Given the description of an element on the screen output the (x, y) to click on. 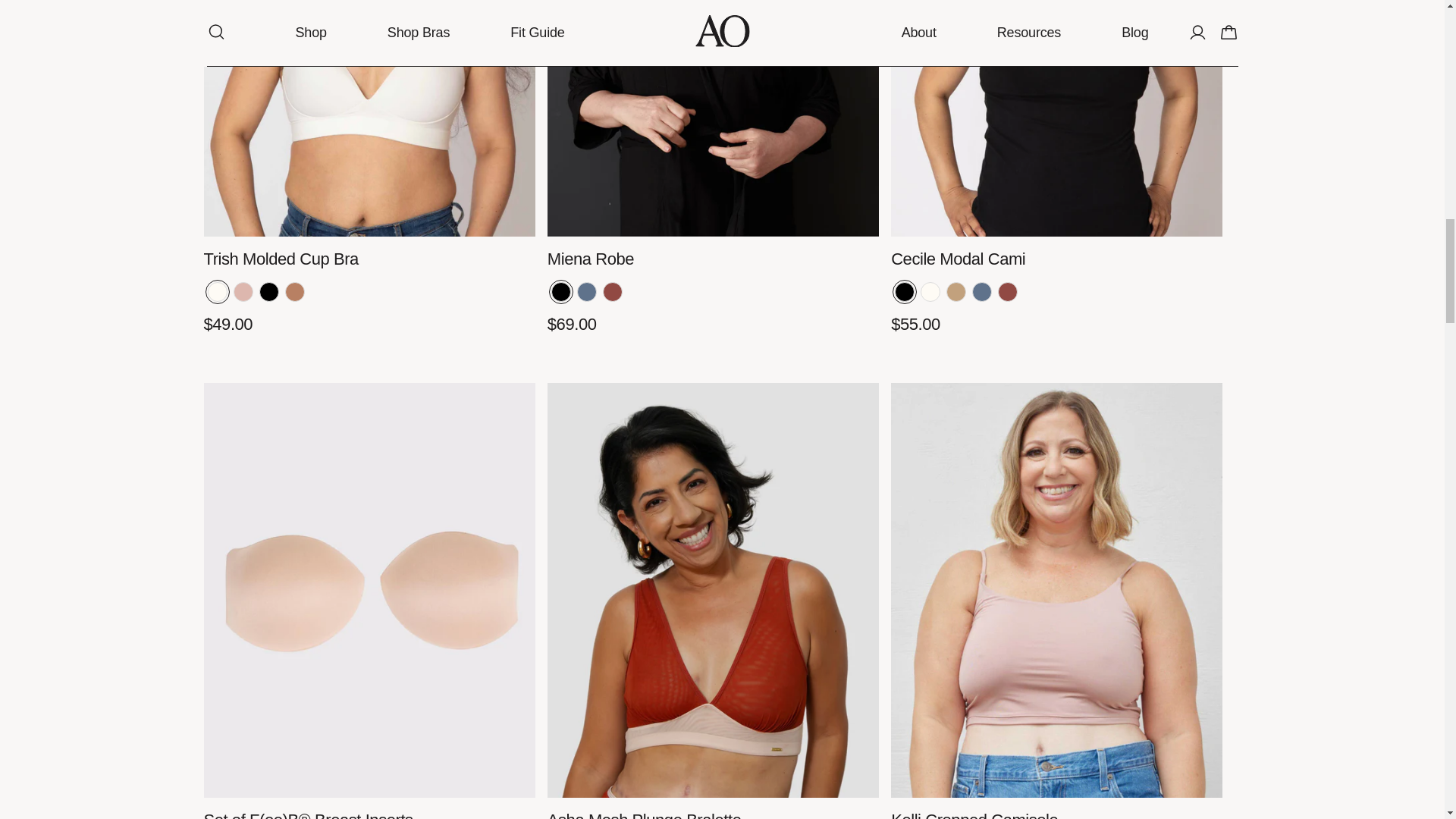
Cecile Modal Cami (1057, 118)
Trish Molded Cup Bra (368, 118)
Miena Robe (713, 118)
